Given the description of an element on the screen output the (x, y) to click on. 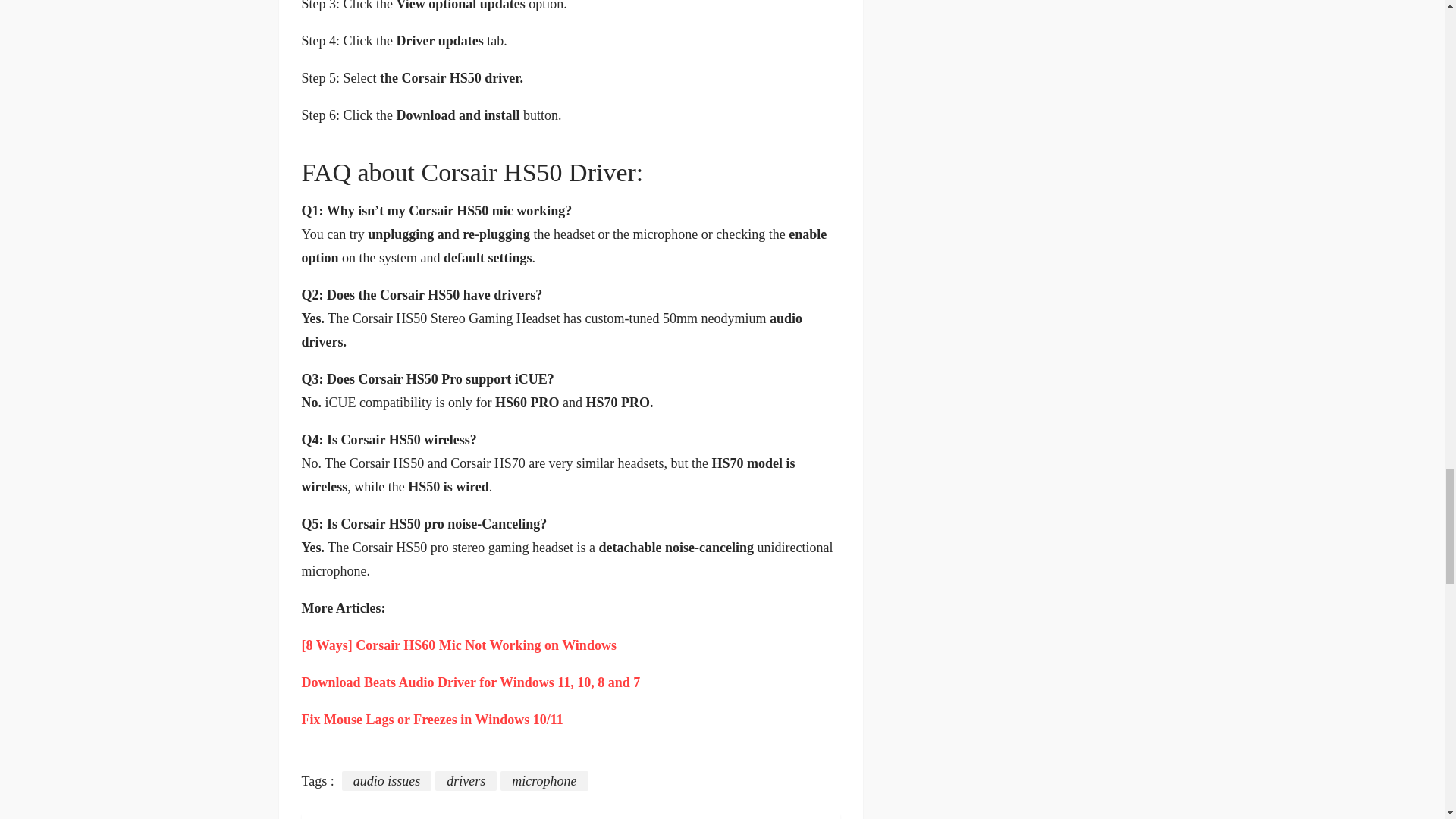
audio issues (387, 781)
microphone (544, 781)
drivers (465, 781)
